Given the description of an element on the screen output the (x, y) to click on. 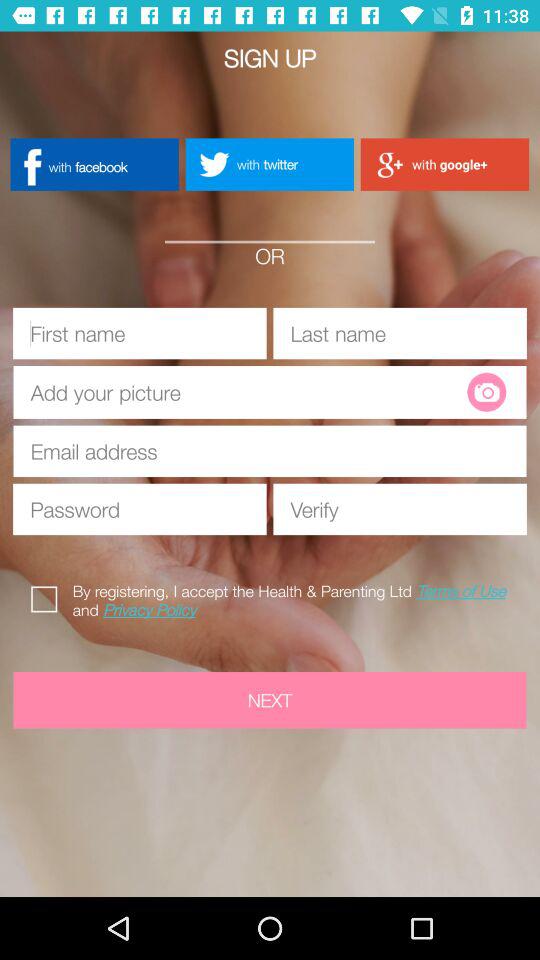
enter passwords (139, 509)
